Given the description of an element on the screen output the (x, y) to click on. 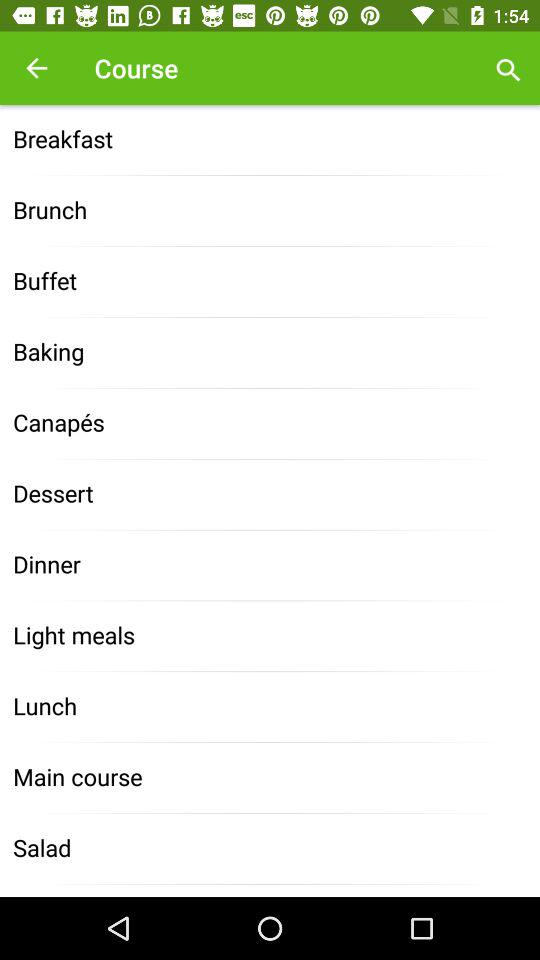
press icon below the breakfast item (270, 210)
